Given the description of an element on the screen output the (x, y) to click on. 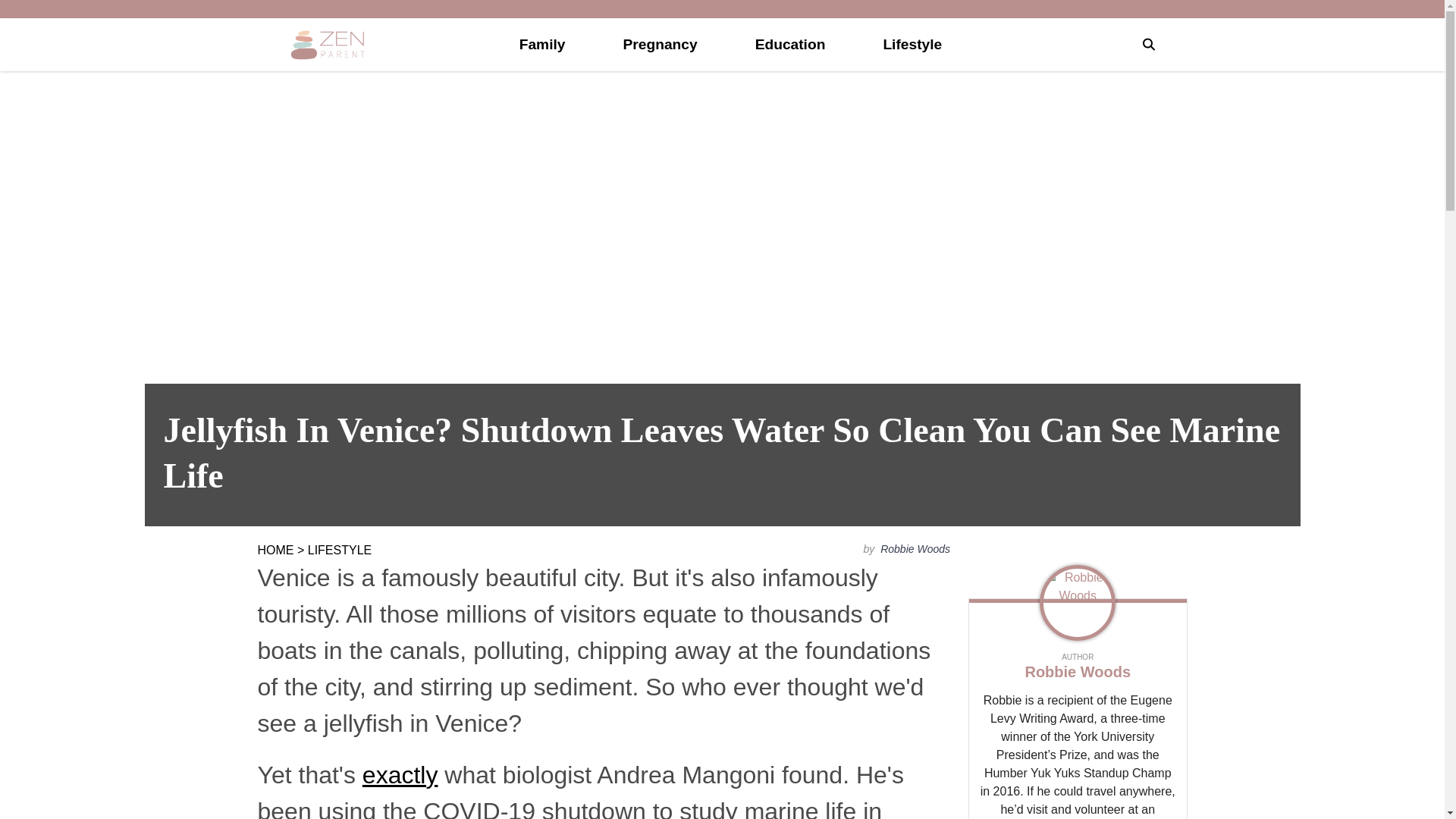
HOME (275, 549)
exactly (400, 774)
Robbie Woods (913, 548)
LIFESTYLE (339, 549)
